Given the description of an element on the screen output the (x, y) to click on. 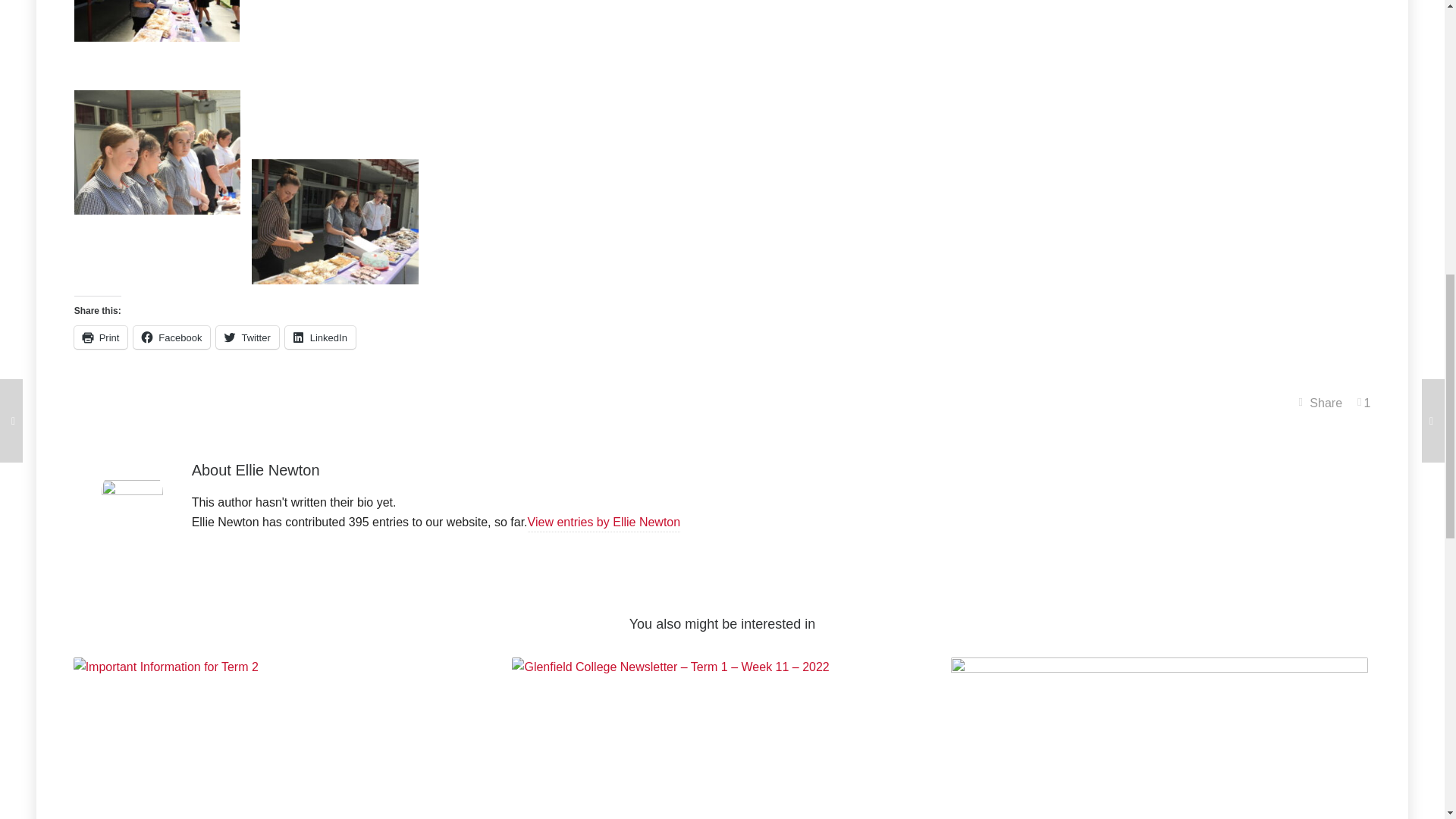
Click to share on Facebook (171, 336)
Click to print (101, 336)
Click to share on LinkedIn (320, 336)
Click to share on Twitter (246, 336)
